Given the description of an element on the screen output the (x, y) to click on. 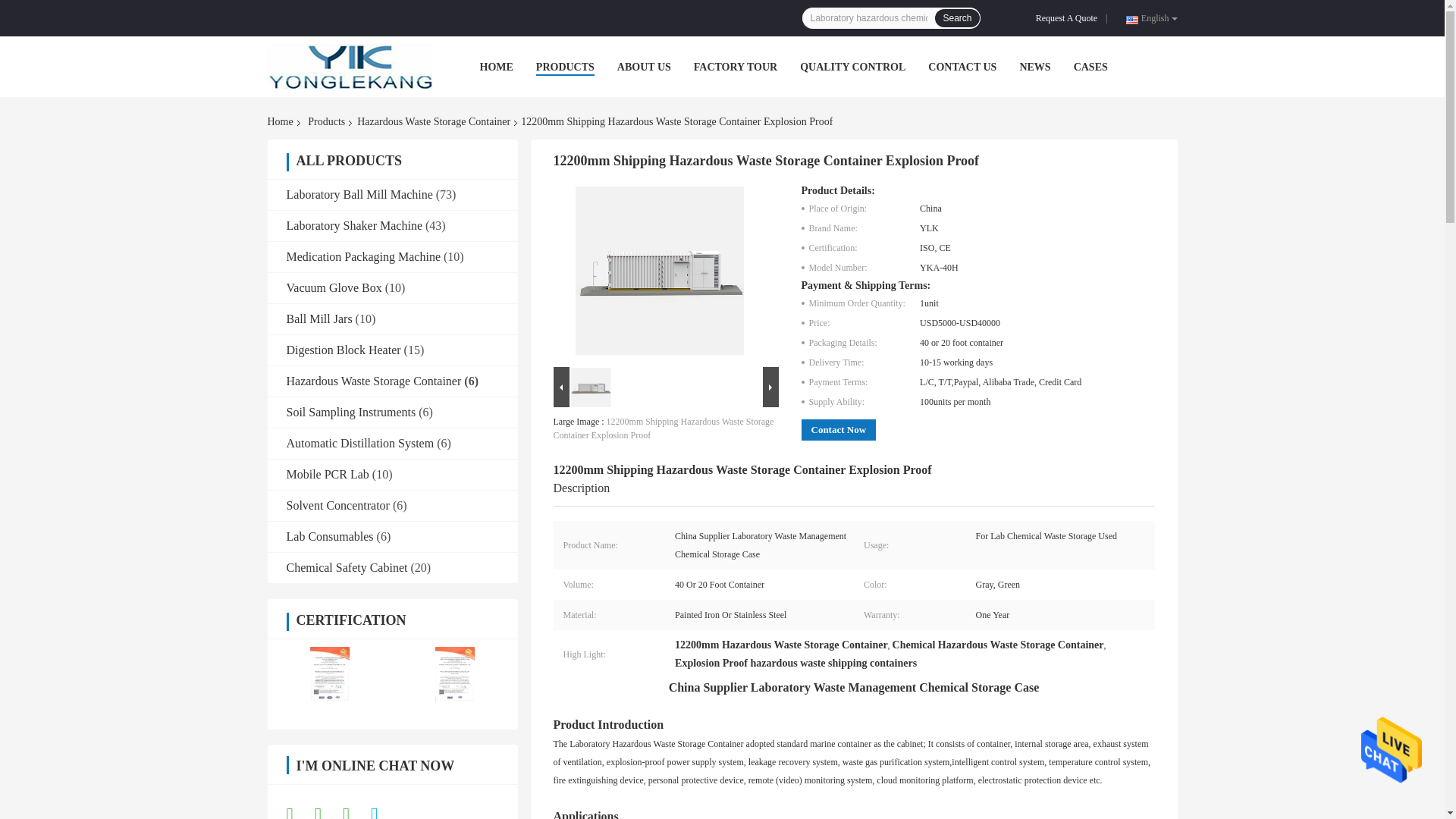
Vacuum Glove Box (333, 287)
CONTACT US (961, 66)
Laboratory Ball Mill Machine (359, 194)
Search (956, 18)
QUALITY CONTROL (852, 66)
Laboratory Shaker Machine (354, 225)
Home (282, 121)
CASES (1091, 66)
HOME (495, 66)
Hazardous Waste Storage Container (433, 121)
ABOUT US (644, 66)
PRODUCTS (564, 66)
Request A Quote (1069, 18)
Products (325, 121)
NEWS (1034, 66)
